Given the description of an element on the screen output the (x, y) to click on. 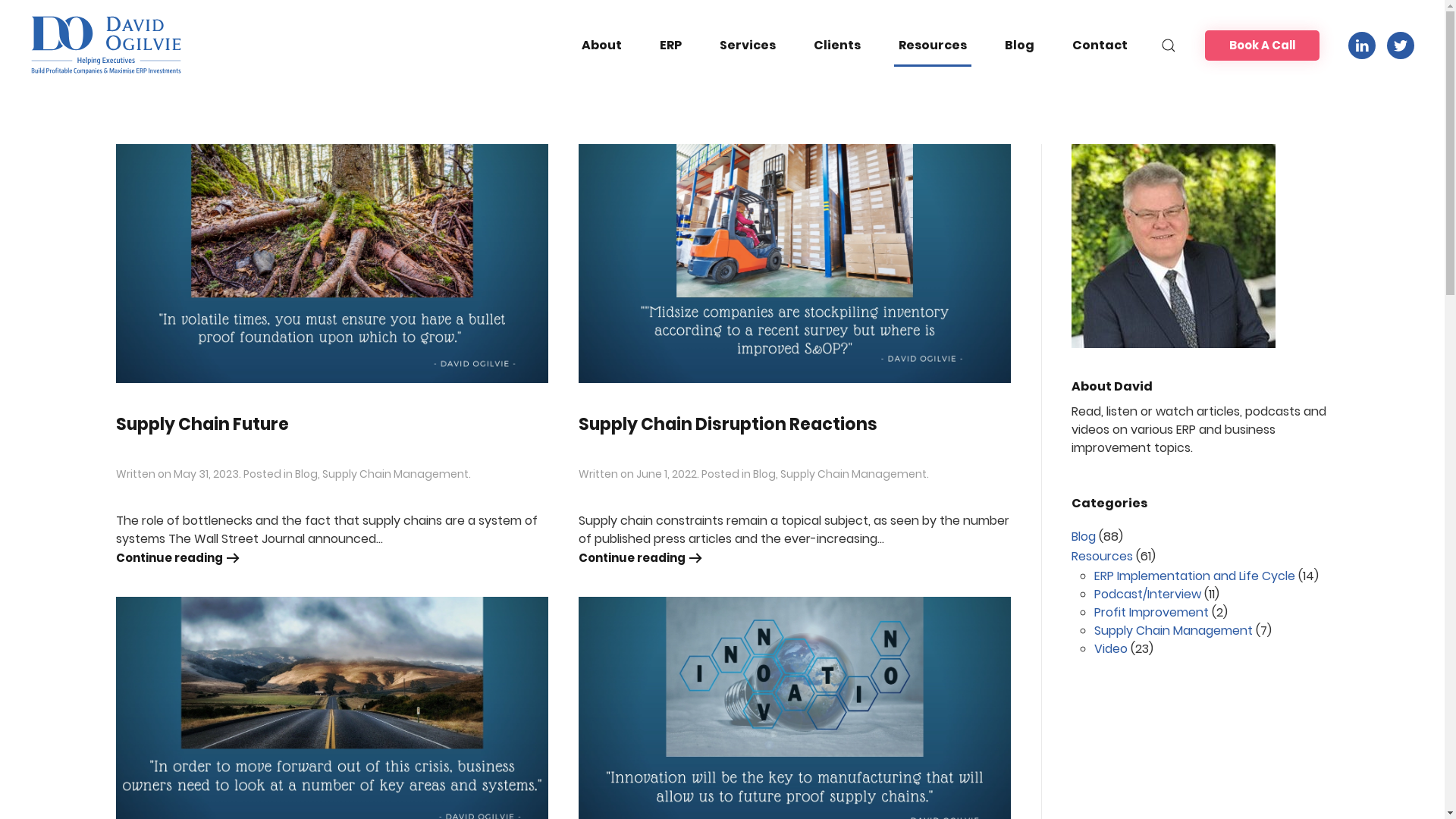
Continue reading Element type: text (641, 558)
Book A Call Element type: text (1261, 45)
Clients Element type: text (837, 45)
About Element type: text (601, 45)
Podcast/Interview Element type: text (1146, 593)
Continue reading Element type: text (178, 558)
Blog Element type: text (1019, 45)
Profit Improvement Element type: text (1150, 612)
Video Element type: text (1109, 648)
Supply Chain Management Element type: text (1172, 630)
Services Element type: text (747, 45)
Supply Chain Disruption Reactions Element type: text (726, 424)
Contact Element type: text (1099, 45)
Blog Element type: text (763, 473)
Supply Chain Management Element type: text (394, 473)
ERP Element type: text (670, 45)
Blog Element type: text (1082, 536)
ERP Implementation and Life Cycle Element type: text (1193, 575)
Resources Element type: text (932, 45)
Blog Element type: text (305, 473)
Supply Chain Management Element type: text (852, 473)
Supply Chain Future Element type: text (201, 424)
Resources Element type: text (1101, 555)
